Given the description of an element on the screen output the (x, y) to click on. 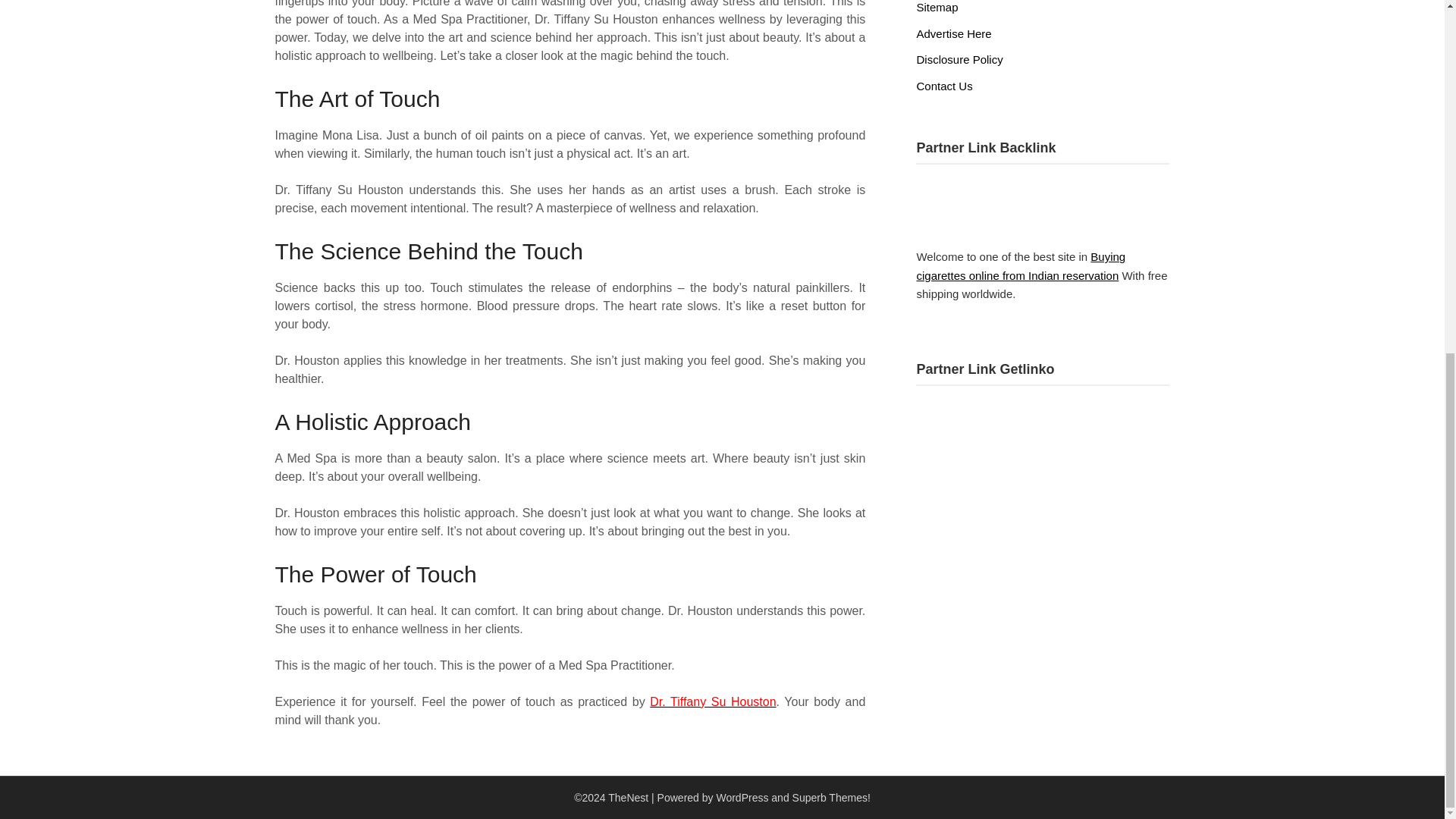
Dr. Tiffany Su Houston (712, 701)
